Given the description of an element on the screen output the (x, y) to click on. 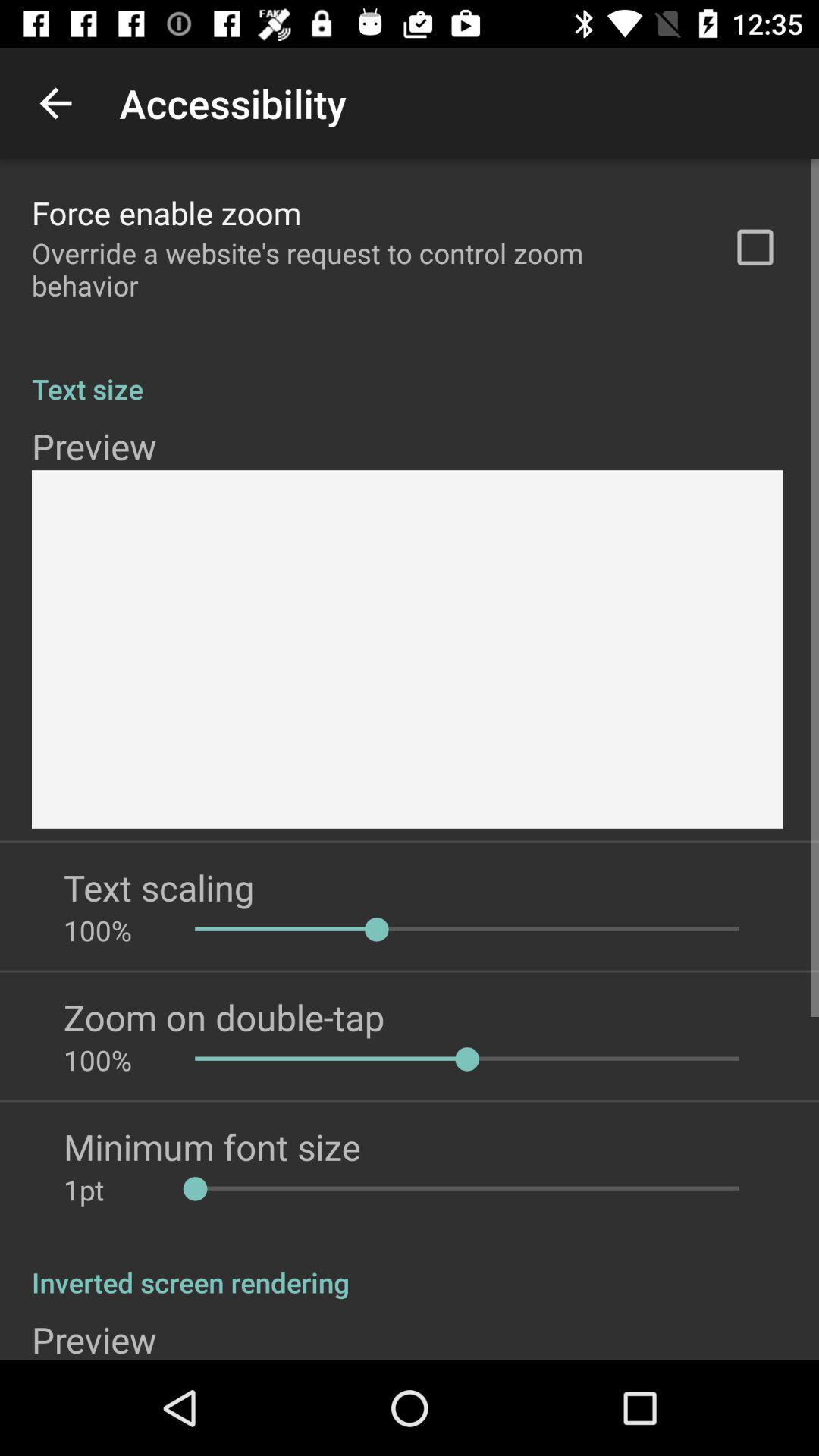
choose the app above the inverted screen rendering icon (113, 1189)
